Given the description of an element on the screen output the (x, y) to click on. 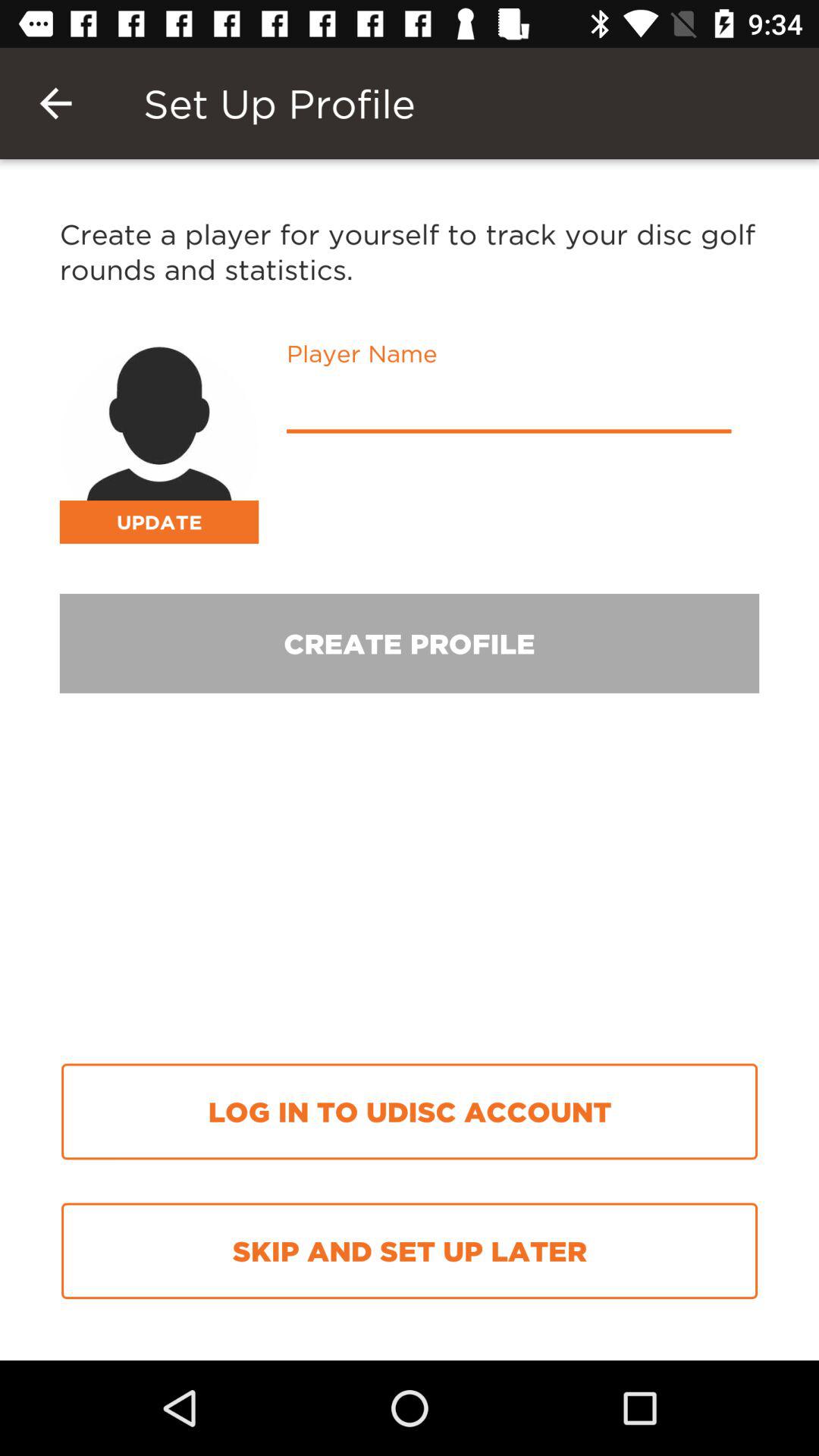
person (158, 443)
